Given the description of an element on the screen output the (x, y) to click on. 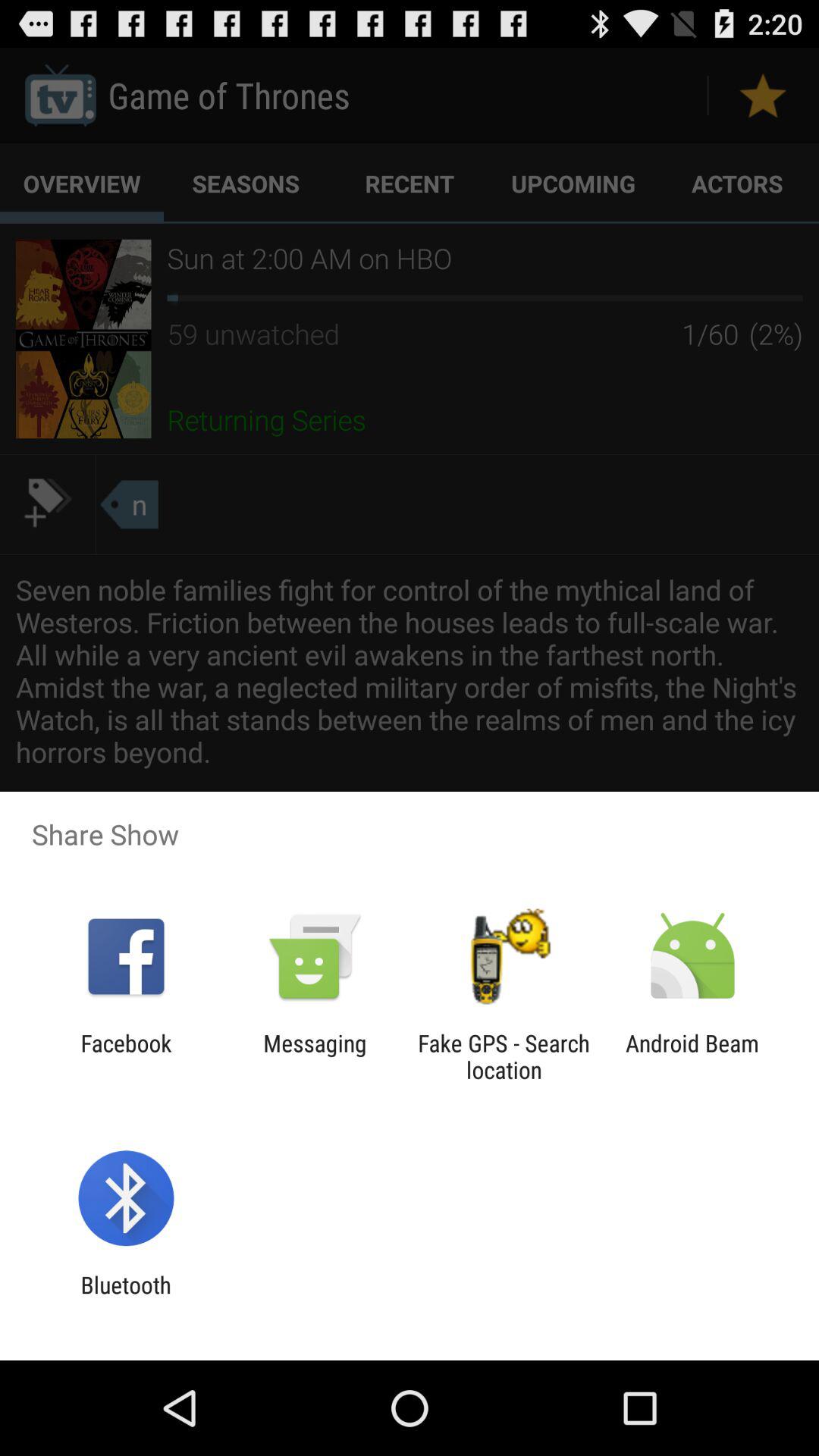
launch the app to the left of the android beam icon (503, 1056)
